Given the description of an element on the screen output the (x, y) to click on. 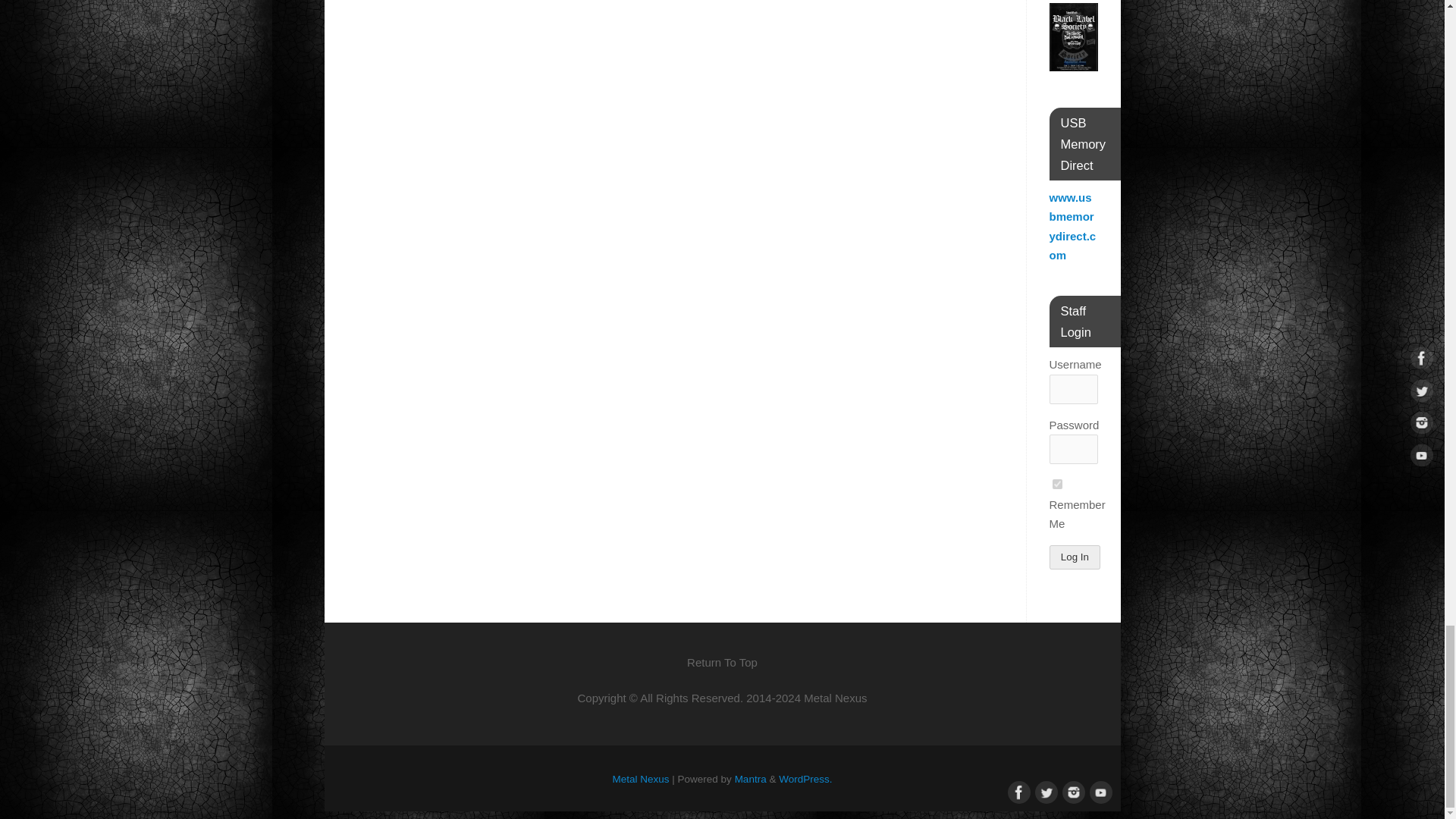
Log In (1074, 557)
Semantic Personal Publishing Platform (804, 778)
Metal Nexus (640, 778)
Twitter (1043, 790)
Facebook (1016, 790)
Mantra Theme by Cryout Creations (751, 778)
forever (1057, 483)
